Given the description of an element on the screen output the (x, y) to click on. 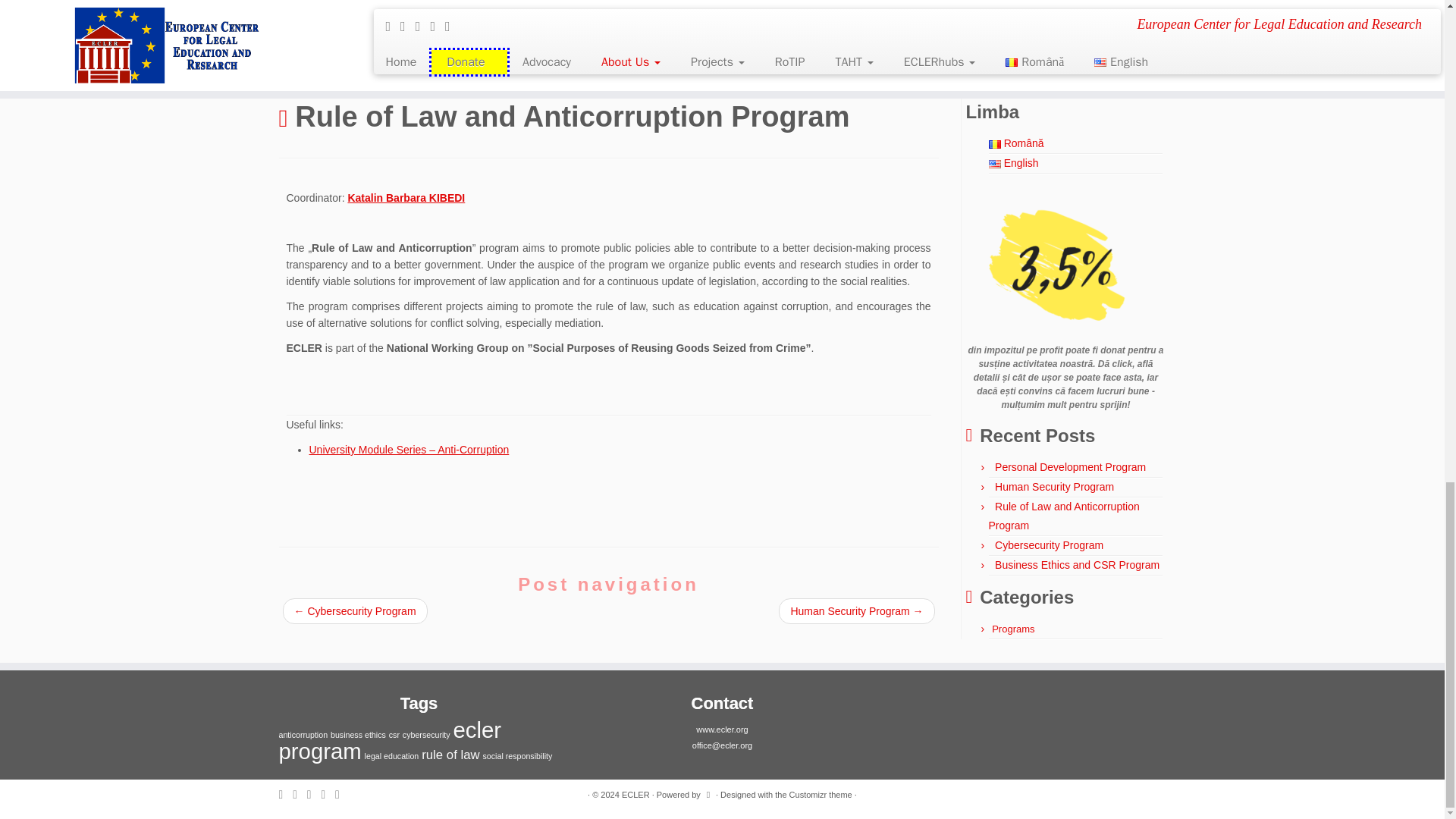
Follow me on LinkedIn (314, 794)
E-mail (286, 794)
ECLER (293, 73)
Follow me on Facebook (299, 794)
Follow us on Youtube (341, 794)
Programs (341, 73)
Follow us on Instagram (327, 794)
